Given the description of an element on the screen output the (x, y) to click on. 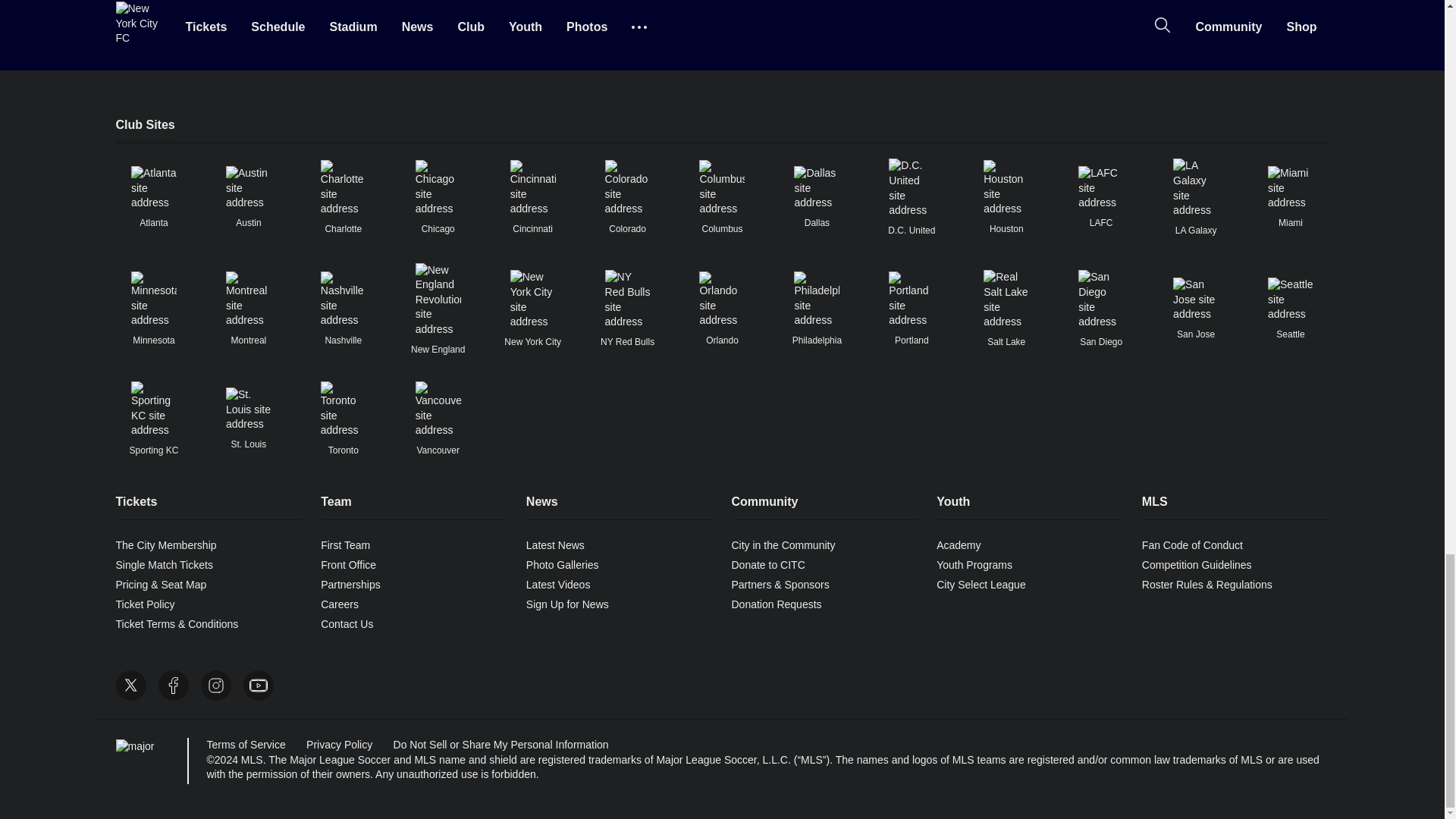
Link to Dallas (816, 188)
Link to LAFC (1101, 188)
Link to Atlanta (153, 188)
Link to Austin (247, 188)
